Given the description of an element on the screen output the (x, y) to click on. 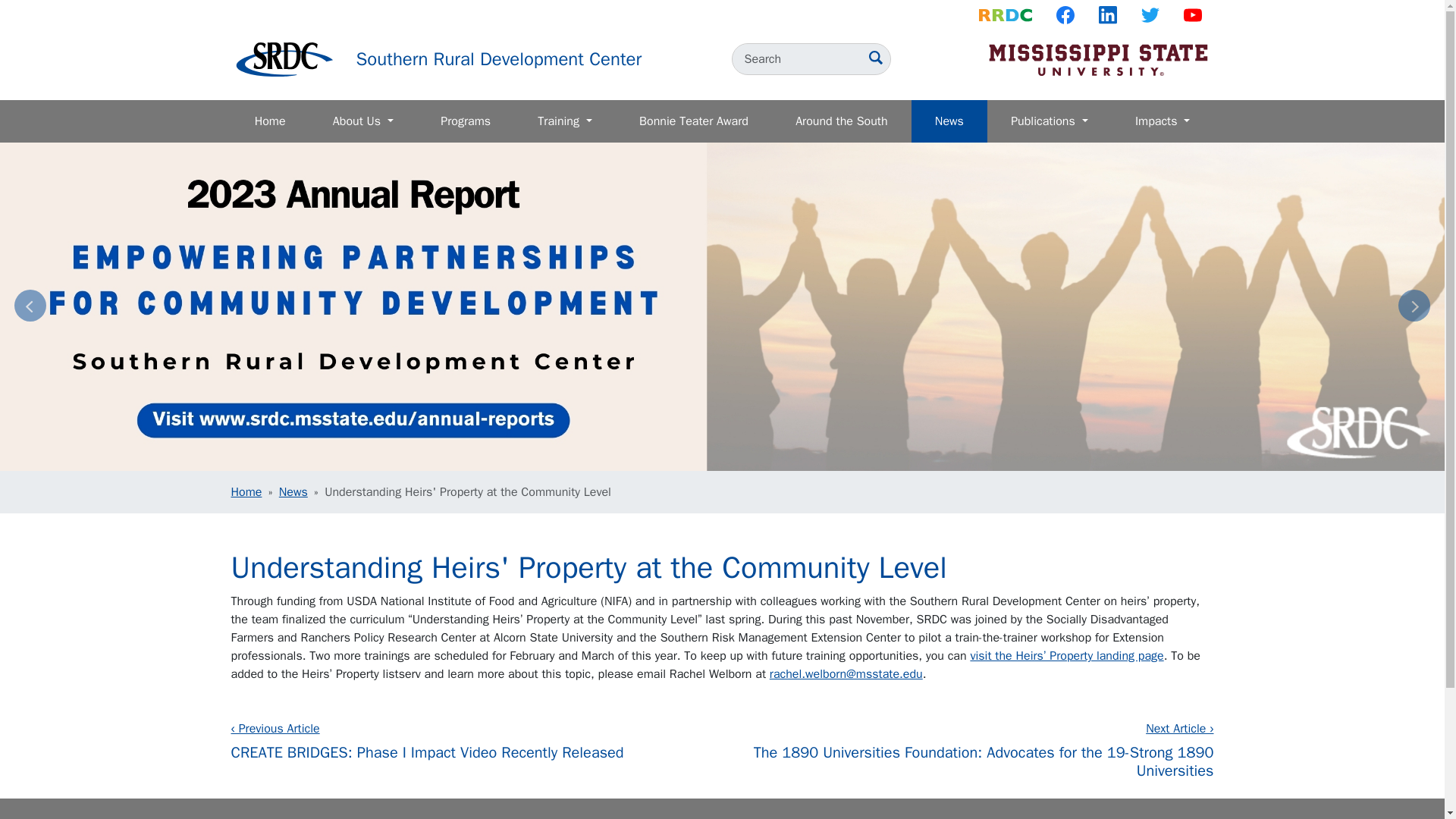
Southern Rural Development Center (499, 58)
Facebook (1064, 15)
Impacts (1163, 120)
Southern Rural Development Center LinkedIn Page (1107, 15)
Training (564, 120)
Bonnie Teater Award (693, 120)
YouTube (1191, 15)
About Us (362, 120)
Heirs' Property (1066, 655)
Home (499, 58)
Twitter (1149, 15)
Publications (1049, 120)
Southern Rural Development Center YouTube (1191, 15)
Southern Rural Development Center Facebook Page (1064, 15)
RRDC (1004, 15)
